Given the description of an element on the screen output the (x, y) to click on. 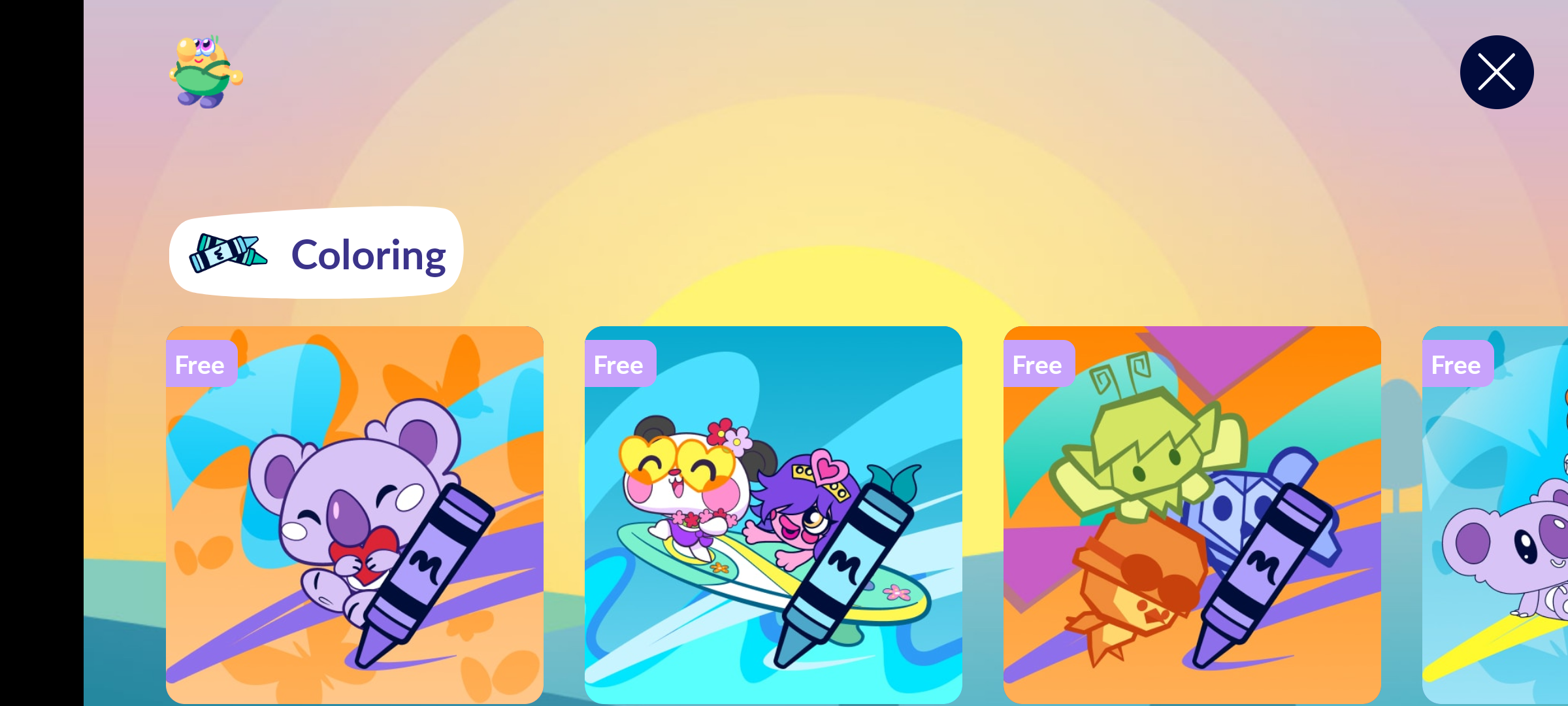
Profile icon (205, 71)
Featured Content Free (355, 514)
Featured Content Free (773, 514)
Featured Content Free (1192, 514)
